Given the description of an element on the screen output the (x, y) to click on. 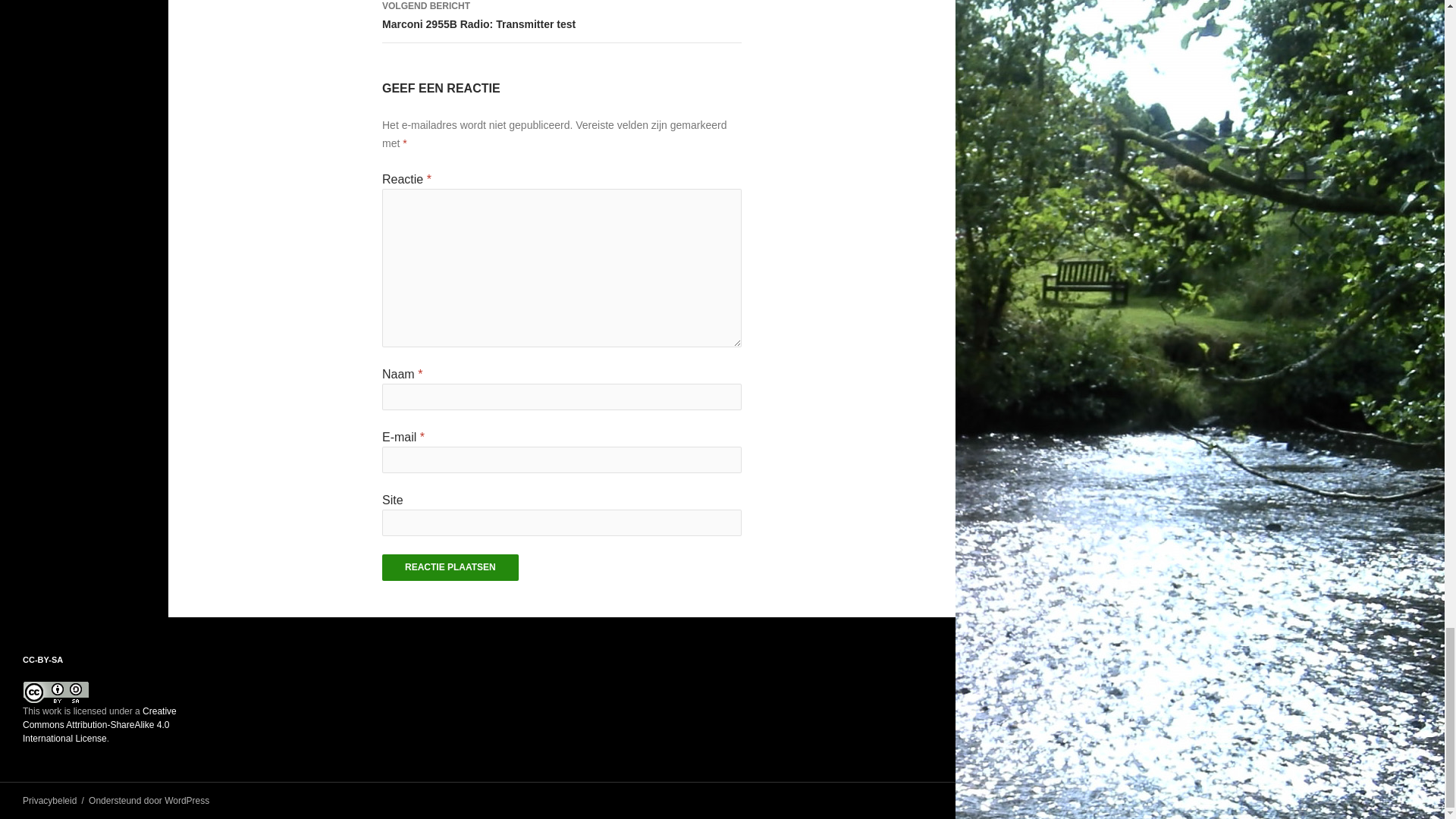
Reactie plaatsen (449, 567)
Reactie plaatsen (561, 21)
